Given the description of an element on the screen output the (x, y) to click on. 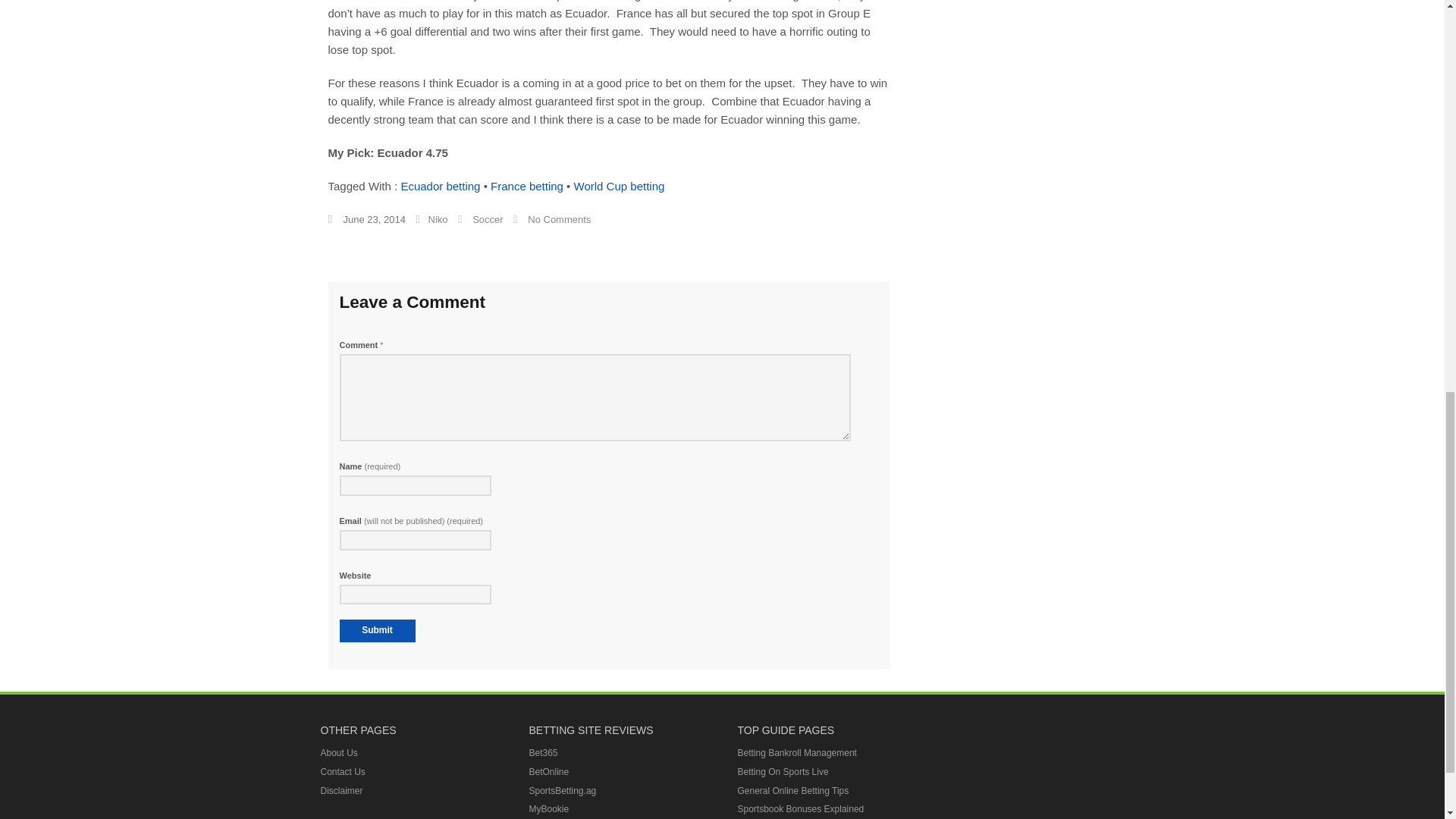
Submit (376, 630)
